Given the description of an element on the screen output the (x, y) to click on. 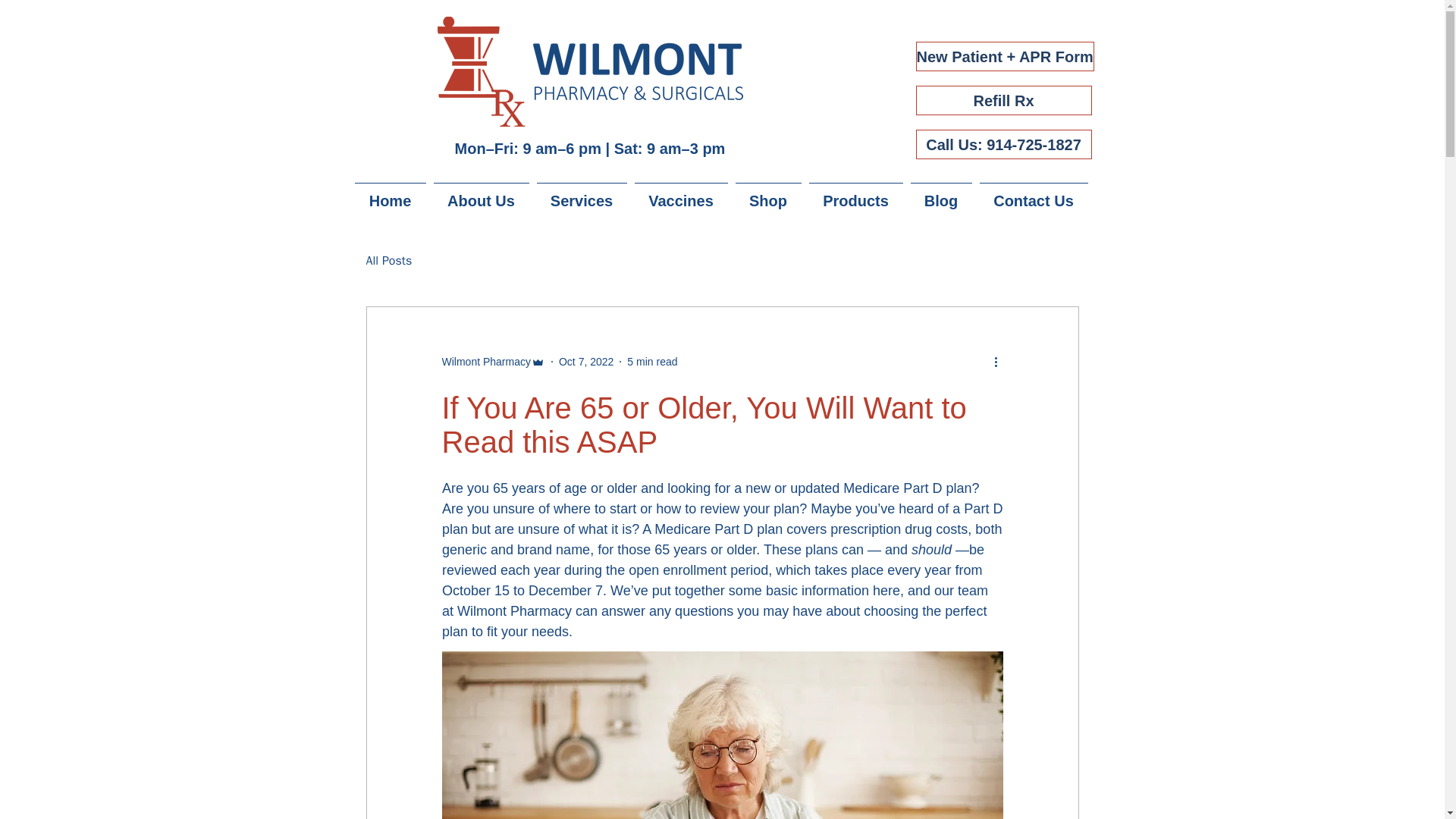
All Posts (388, 261)
About Us (480, 193)
Oct 7, 2022 (585, 360)
Home (389, 193)
Call Us: 914-725-1827 (1003, 143)
Refill Rx (1003, 100)
Wilmont Pharmacy (485, 360)
5 min read (652, 360)
Services (581, 193)
